Given the description of an element on the screen output the (x, y) to click on. 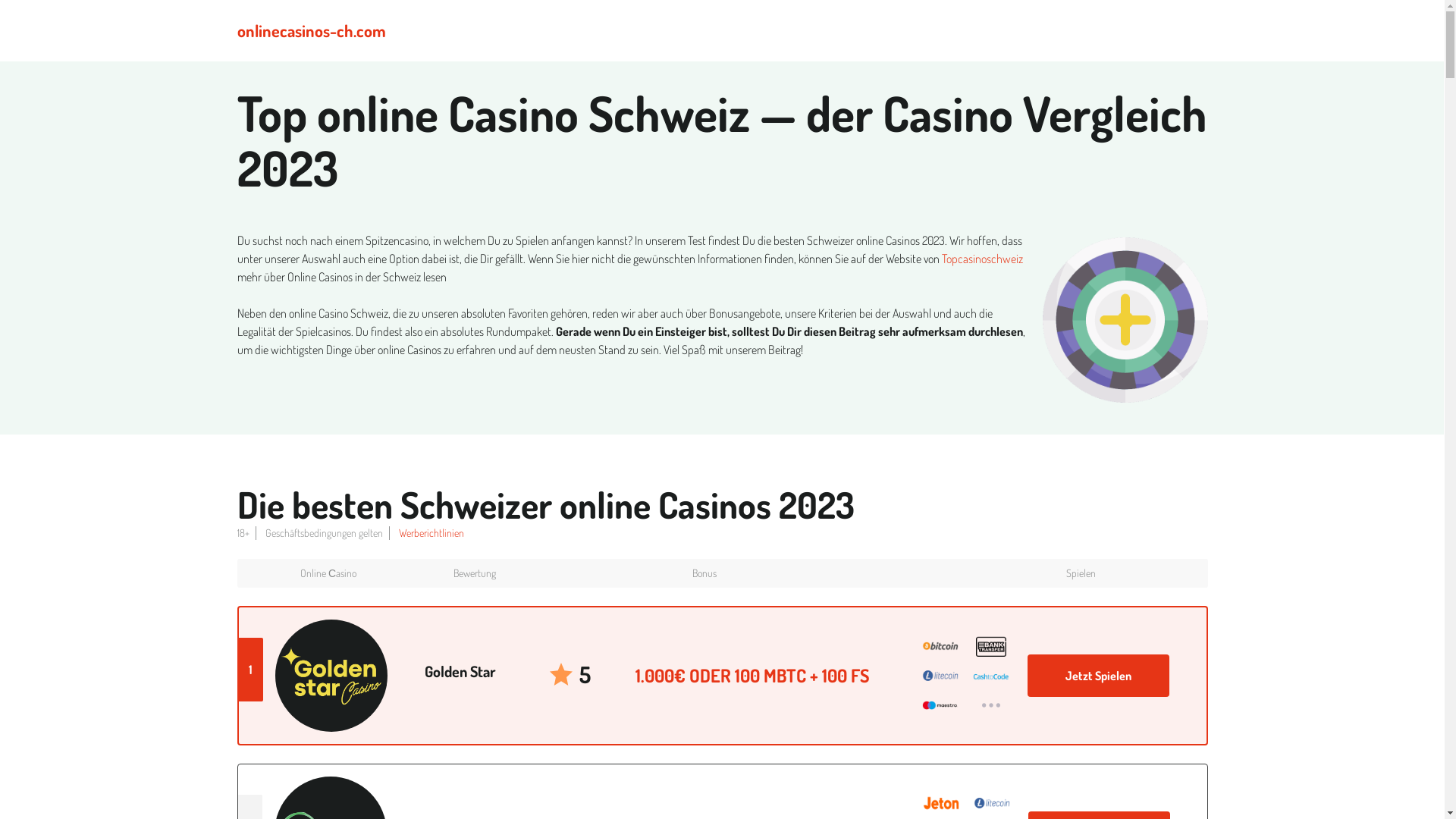
Werberichtlinien Element type: text (431, 532)
Jetzt Spielen Element type: text (1097, 675)
onlinecasinos-ch.com Element type: text (310, 29)
Topcasinoschweiz Element type: text (981, 258)
